Given the description of an element on the screen output the (x, y) to click on. 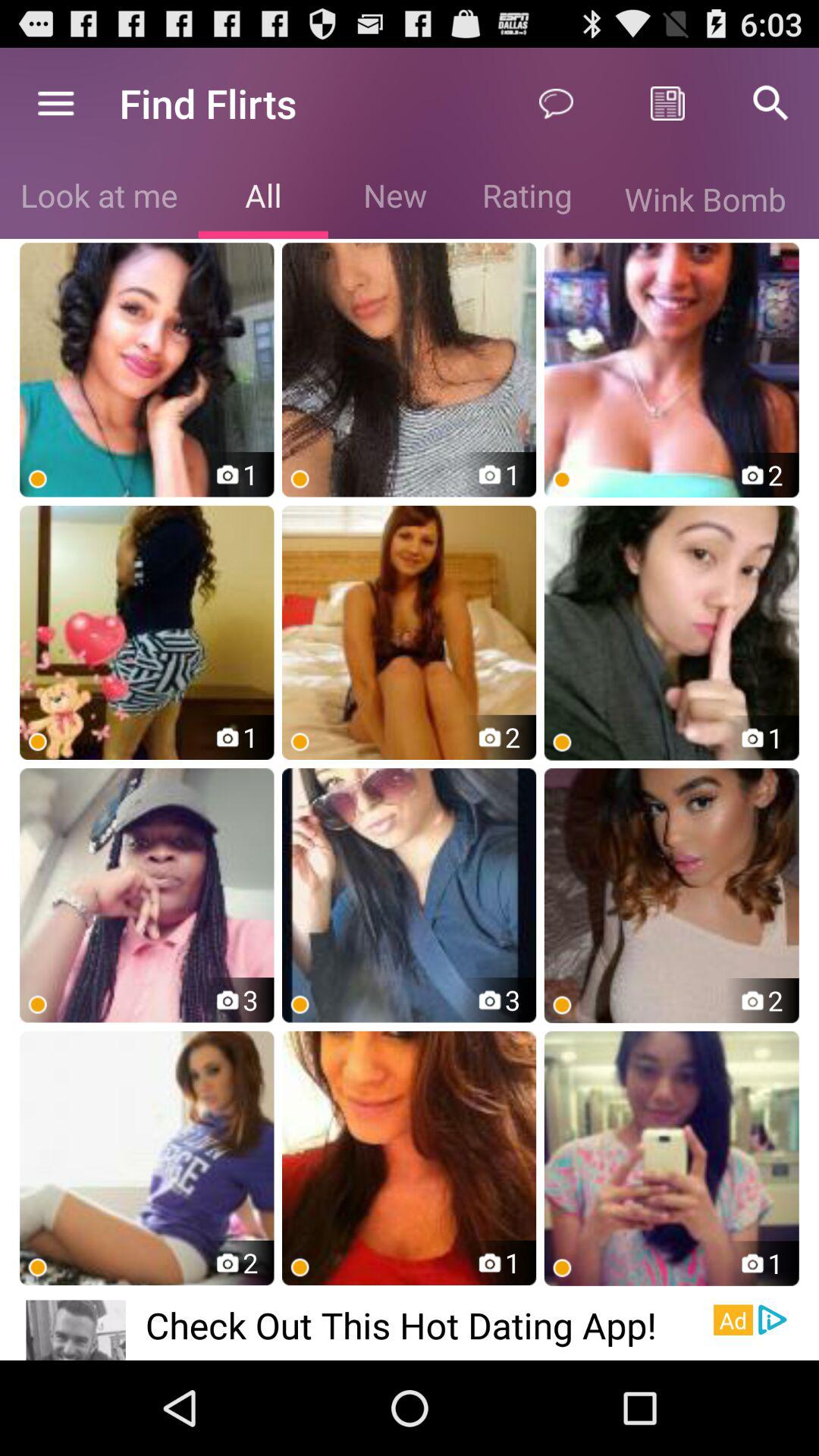
launch the icon to the left of the check out this app (75, 1330)
